Given the description of an element on the screen output the (x, y) to click on. 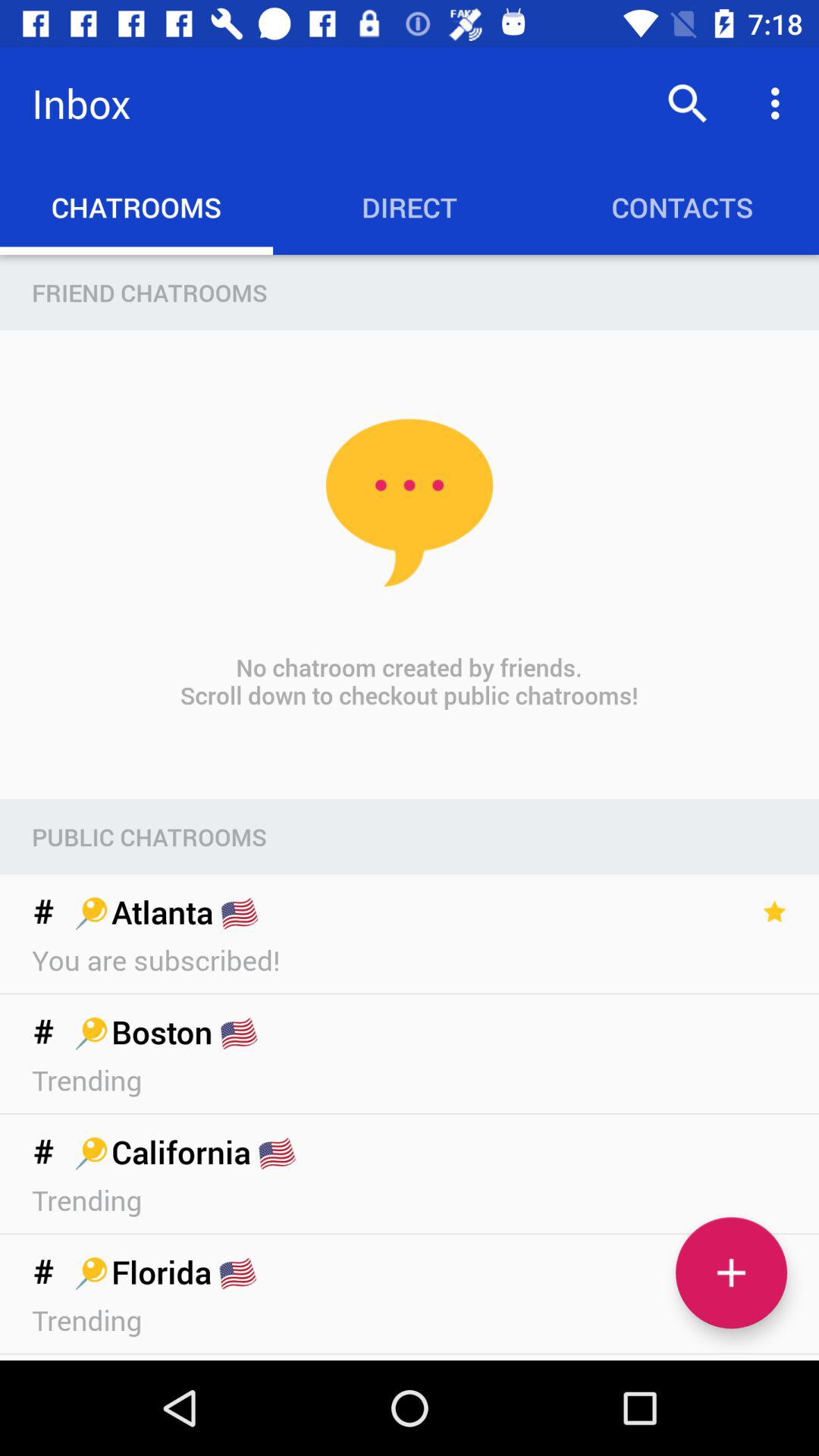
open chatroom (731, 1272)
